Given the description of an element on the screen output the (x, y) to click on. 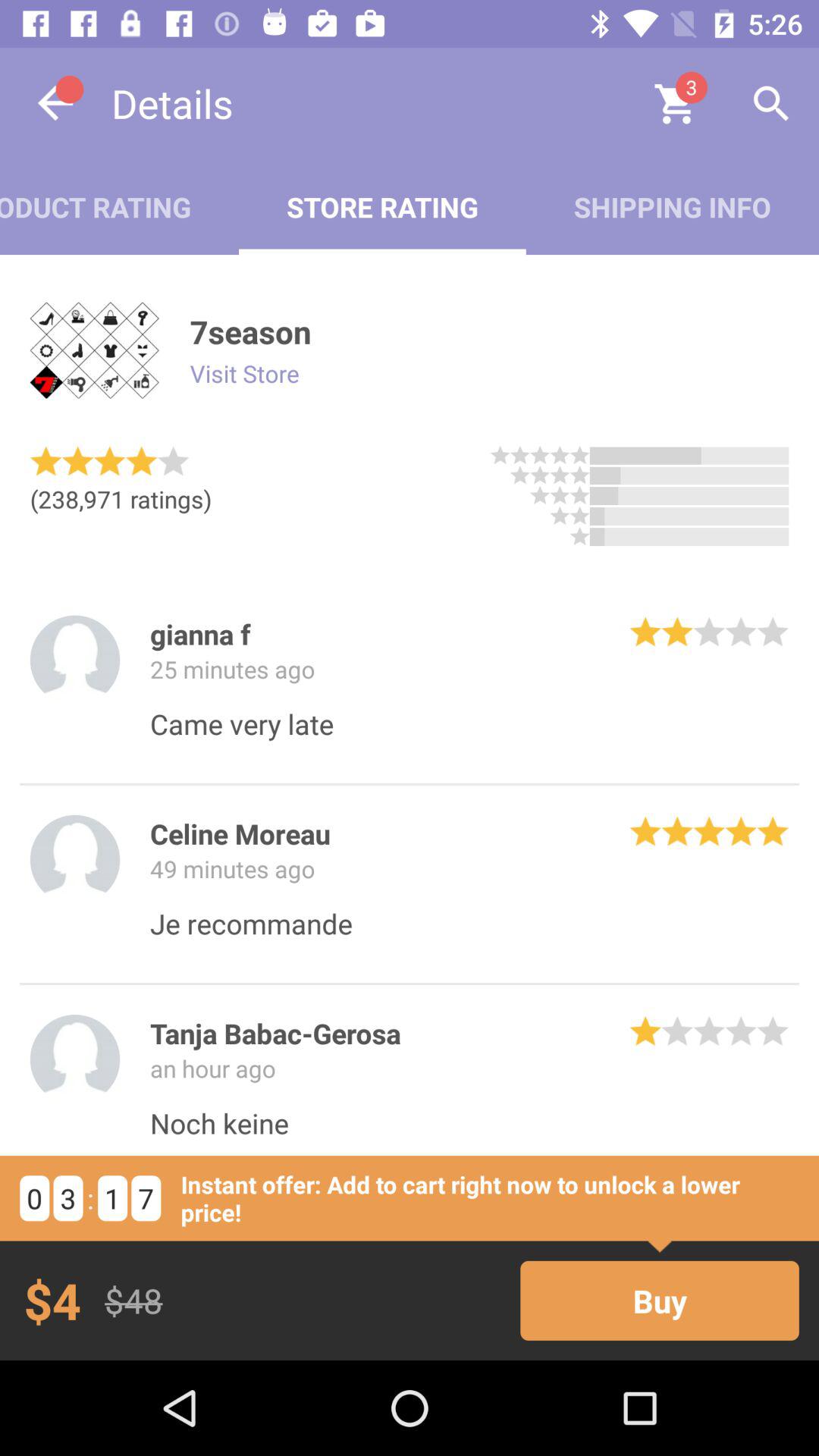
launch app to the right of store rating item (672, 206)
